Given the description of an element on the screen output the (x, y) to click on. 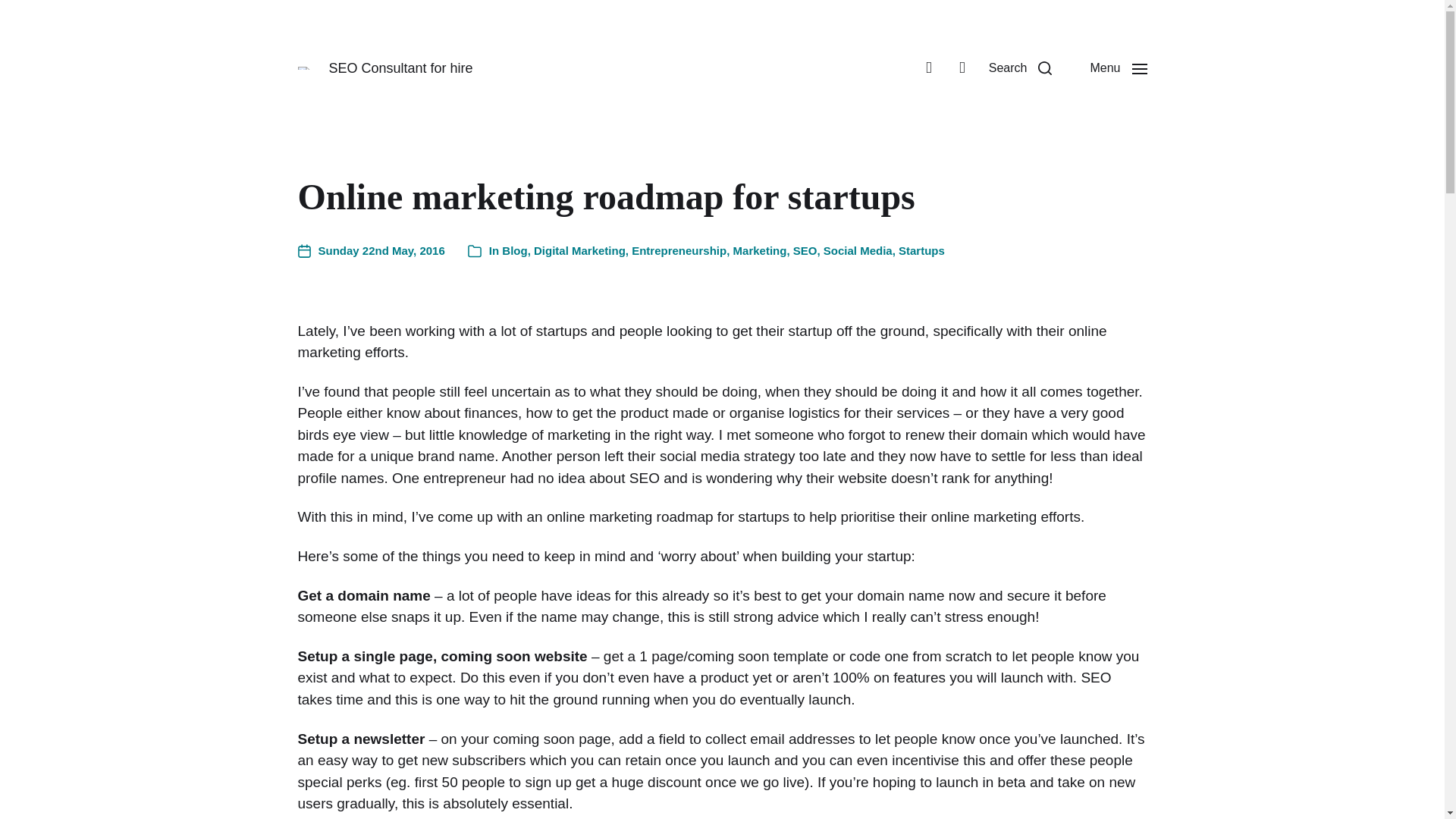
Social Media (858, 250)
Sunday 22nd May, 2016 (370, 251)
Search (1020, 68)
Marketing (760, 250)
Blog (514, 250)
Menu (1118, 68)
Startups (921, 250)
SEO (804, 250)
Entrepreneurship (678, 250)
Digital Marketing (580, 250)
